Given the description of an element on the screen output the (x, y) to click on. 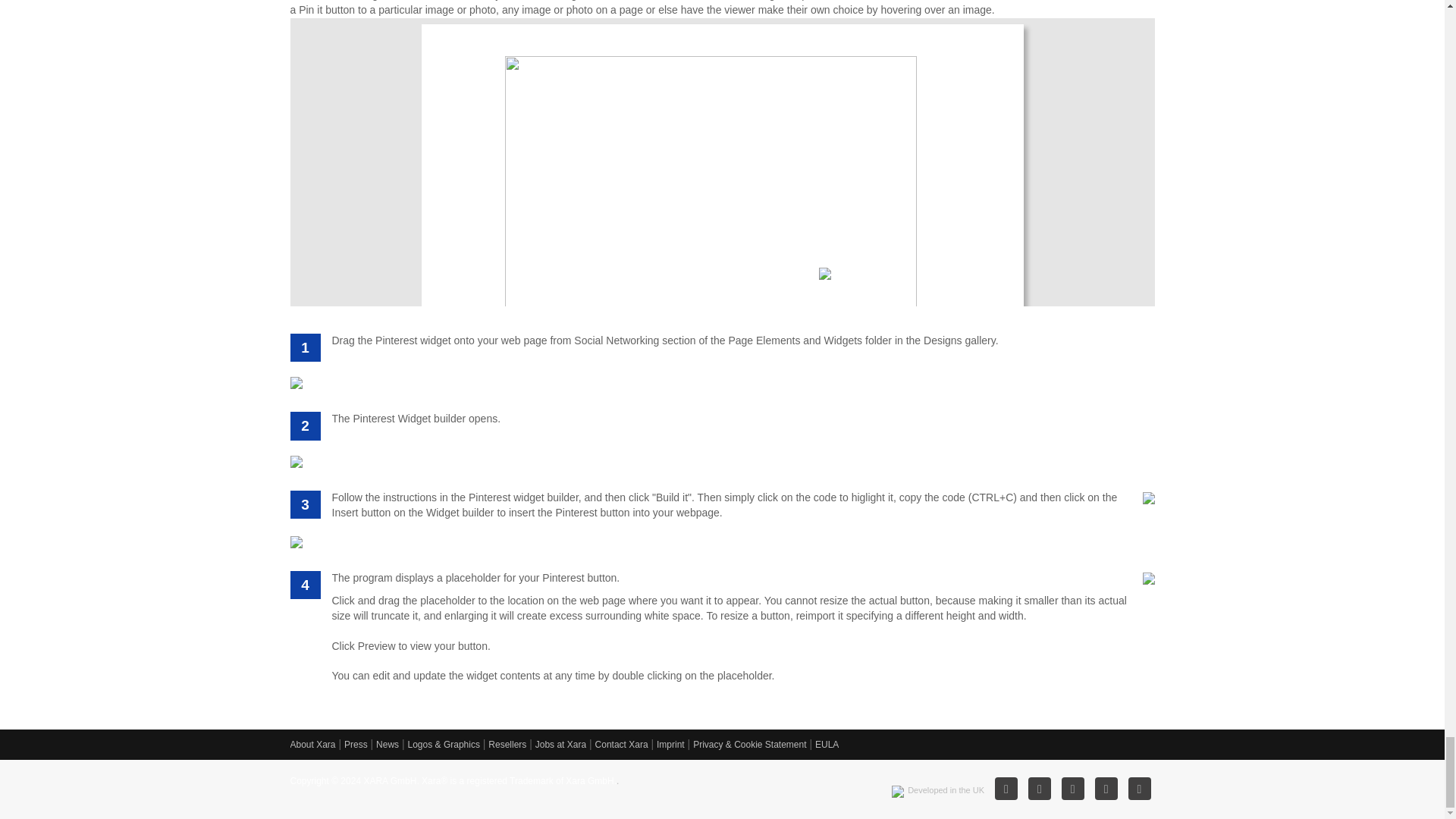
YouTube (1139, 788)
Twitter (1106, 788)
RSS (1039, 788)
Facebook (1072, 788)
Sitemap (1005, 788)
